Given the description of an element on the screen output the (x, y) to click on. 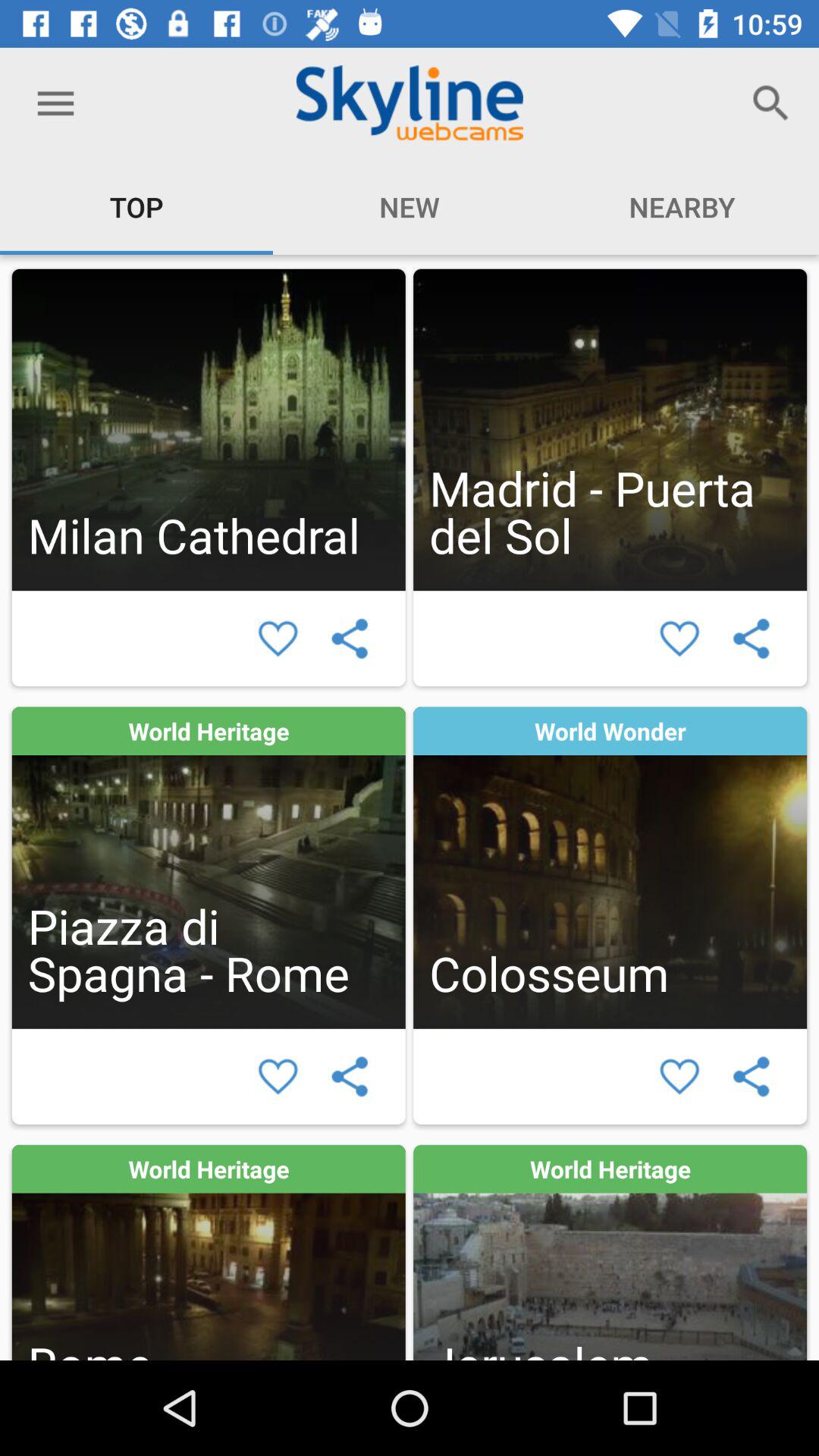
share (349, 638)
